Given the description of an element on the screen output the (x, y) to click on. 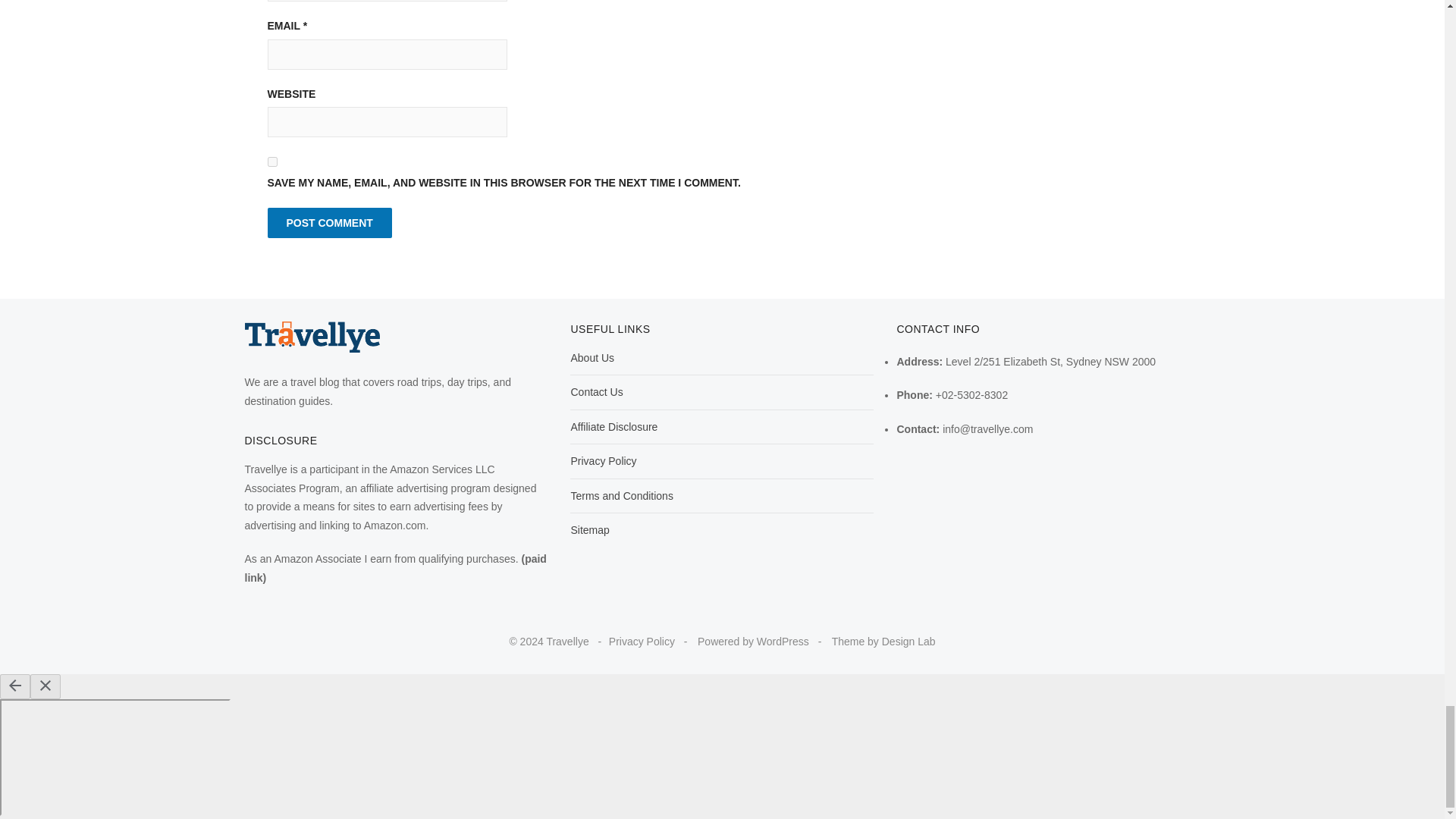
Post Comment (328, 223)
yes (271, 162)
Post Comment (328, 223)
